Given the description of an element on the screen output the (x, y) to click on. 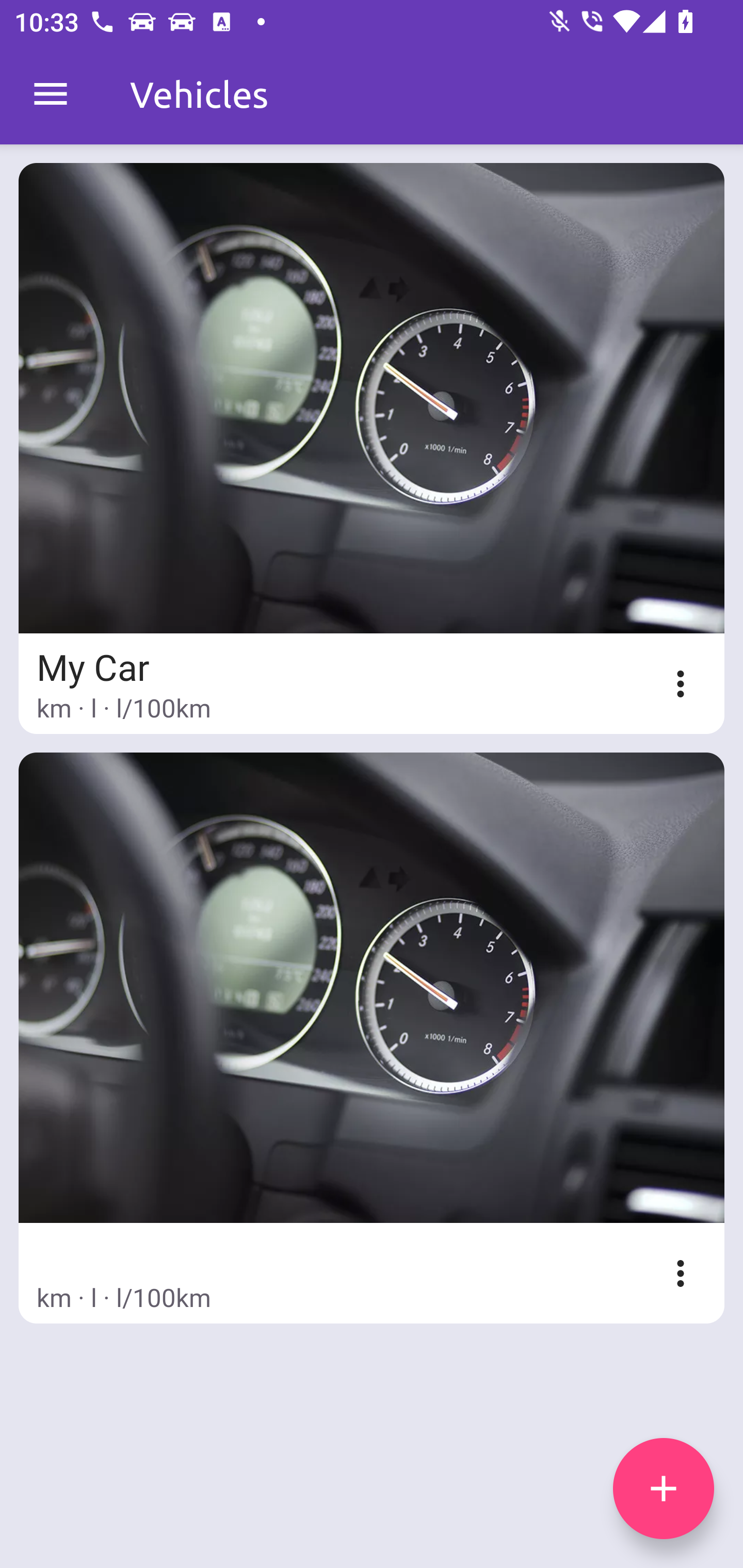
MenuDrawer (50, 93)
My Car km · l · l/100km (371, 448)
km · l · l/100km (371, 1037)
add icon (663, 1488)
